Given the description of an element on the screen output the (x, y) to click on. 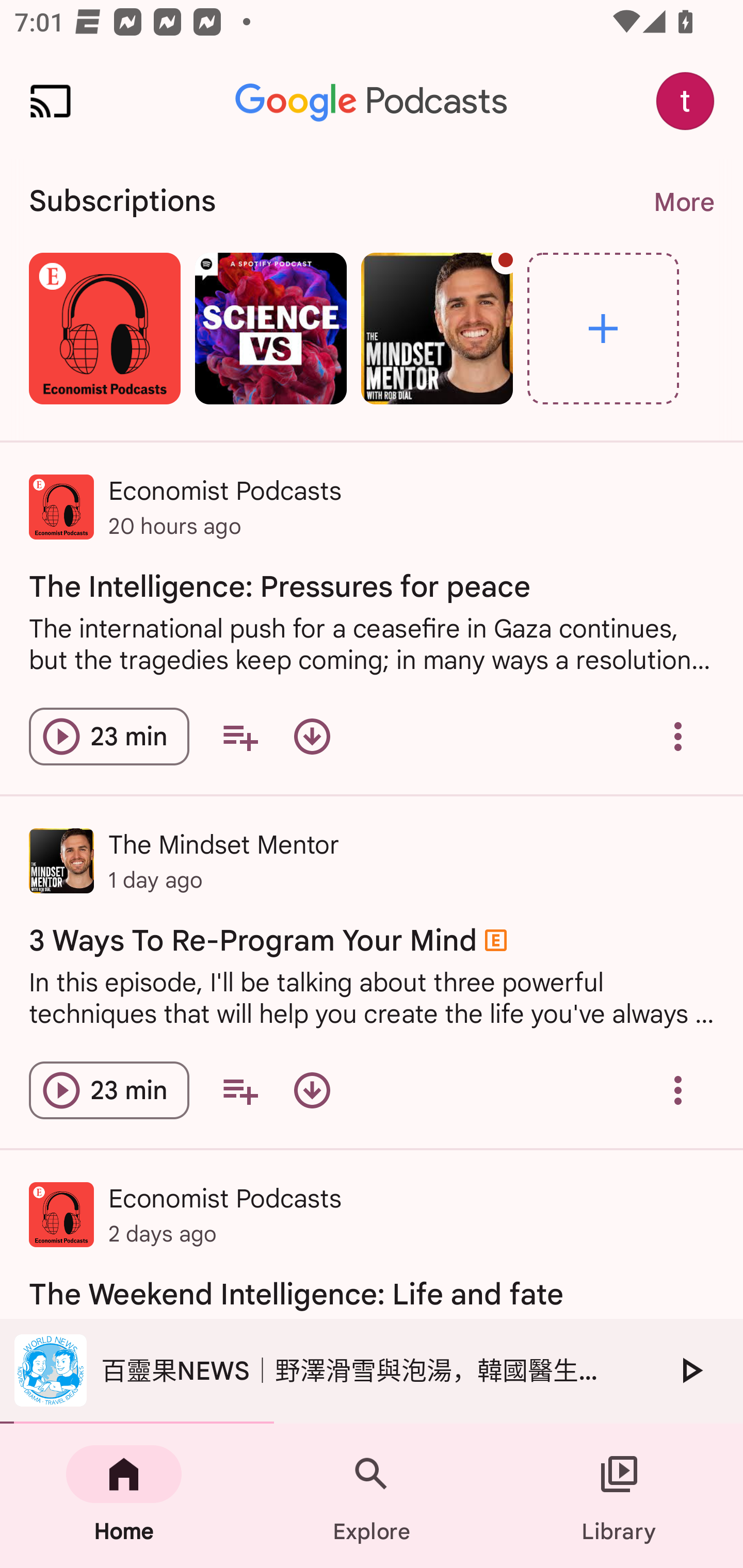
Cast. Disconnected (50, 101)
More More. Navigate to subscriptions page. (683, 202)
Economist Podcasts (104, 328)
Science Vs (270, 328)
The Mindset Mentor (436, 328)
Explore (603, 328)
Add to your queue (239, 736)
Download episode (312, 736)
Overflow menu (677, 736)
Play episode 3 Ways To Re-Program Your Mind 23 min (108, 1090)
Add to your queue (239, 1090)
Download episode (312, 1090)
Overflow menu (677, 1090)
Play (690, 1370)
Explore (371, 1495)
Library (619, 1495)
